Given the description of an element on the screen output the (x, y) to click on. 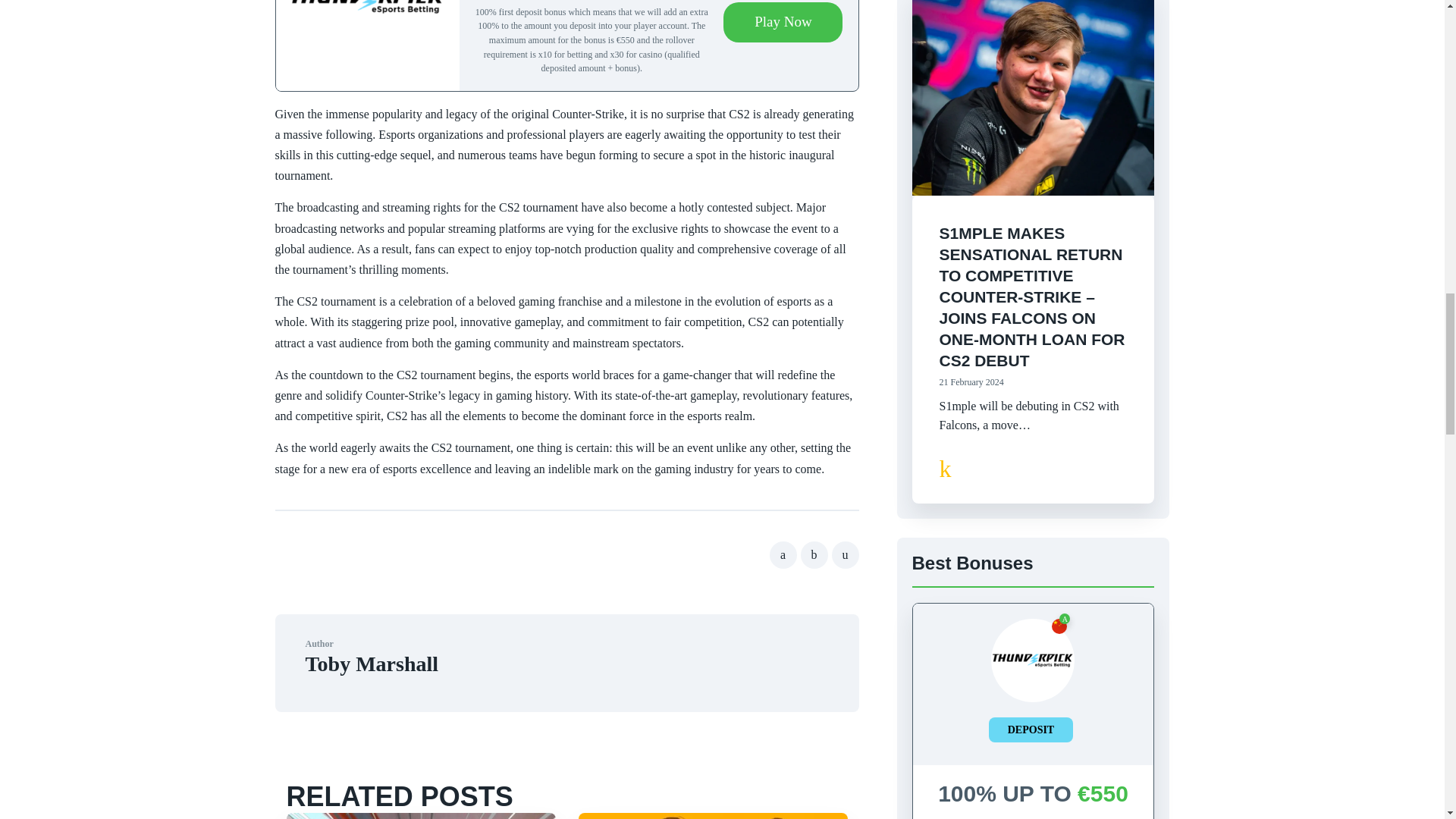
Share on Facebook (782, 554)
Share on Twitter (814, 554)
Share by email (845, 554)
This Site Review is available in China (1059, 626)
